Given the description of an element on the screen output the (x, y) to click on. 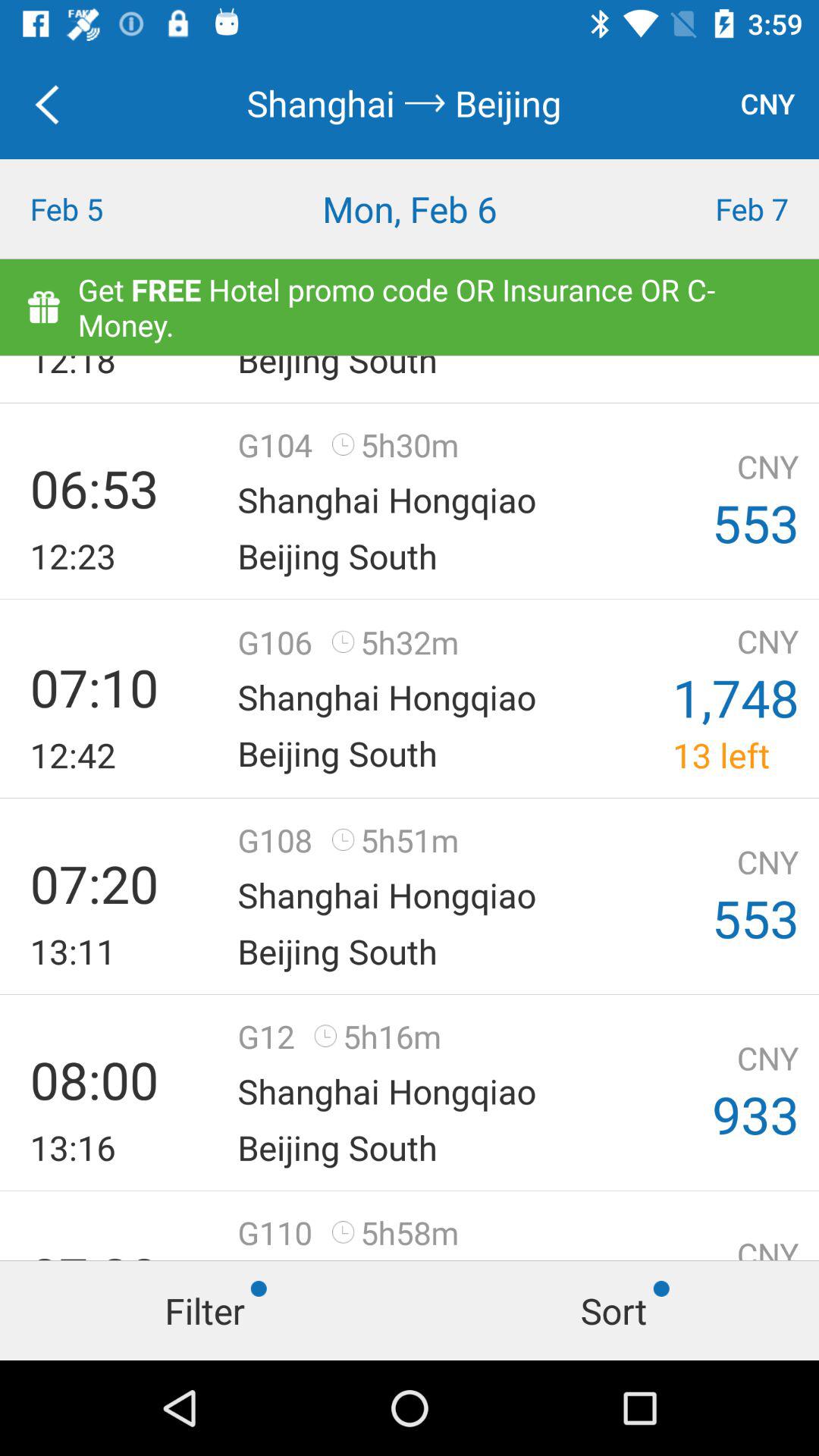
select feb 5 (102, 208)
